Given the description of an element on the screen output the (x, y) to click on. 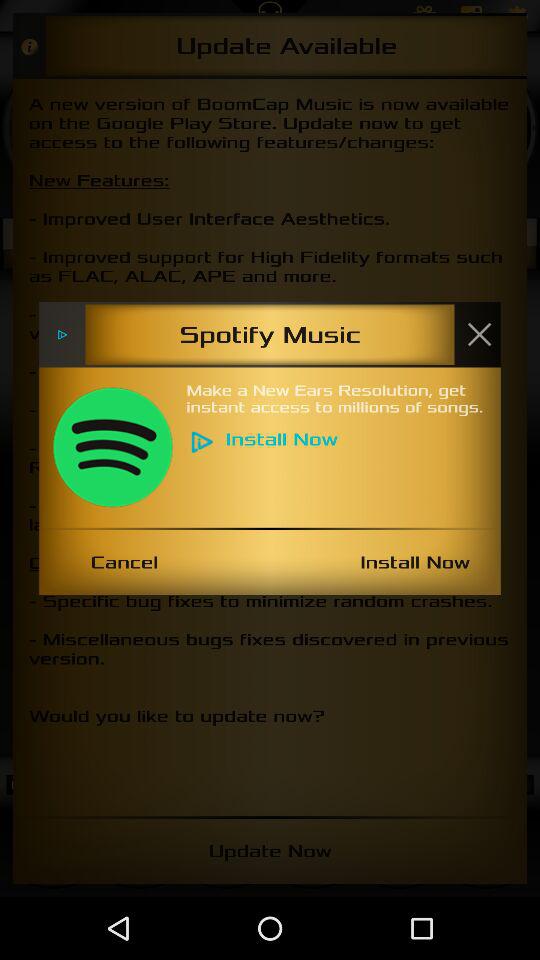
turn off the item to the right of spotify music (479, 334)
